Given the description of an element on the screen output the (x, y) to click on. 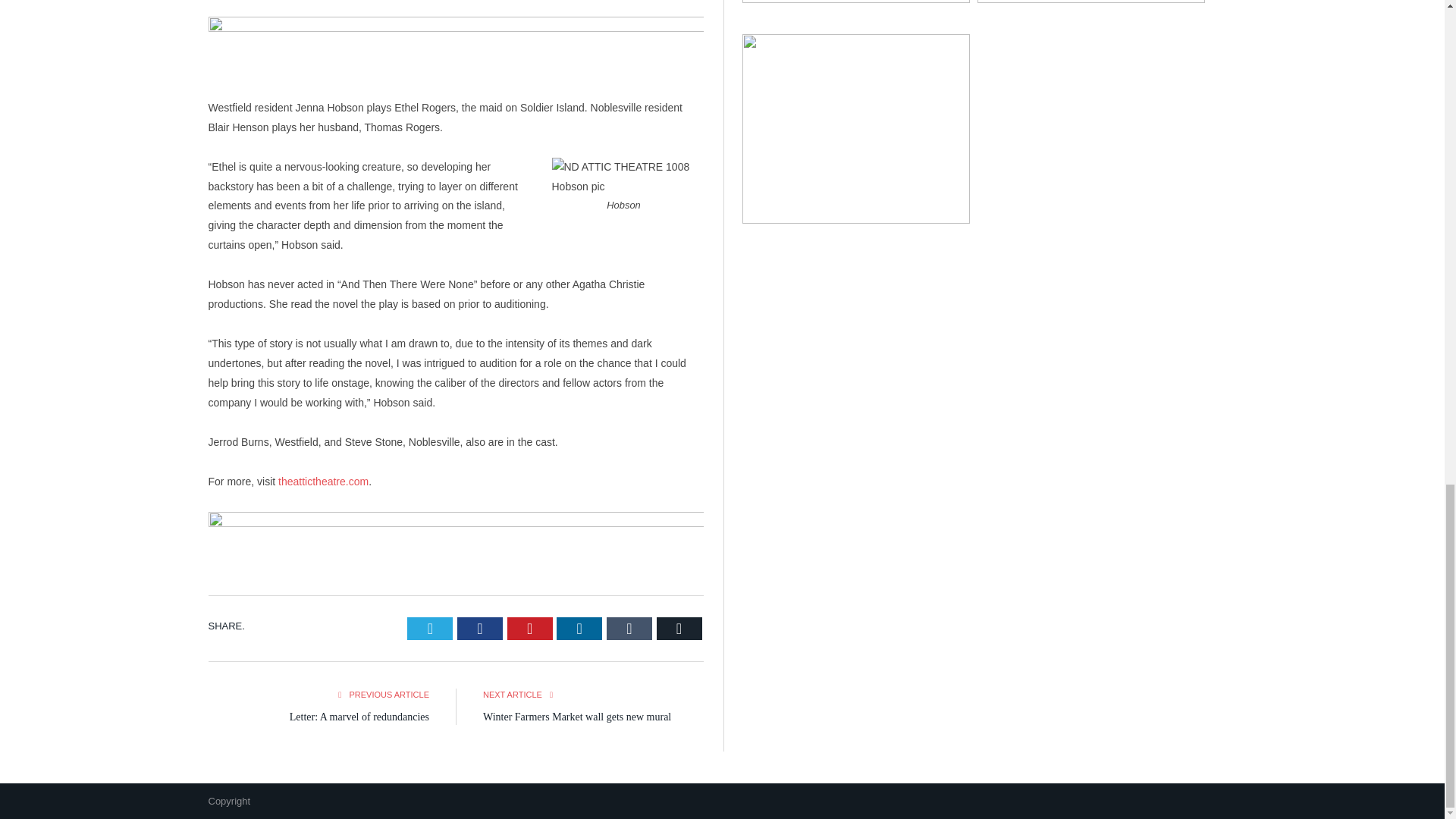
Share on Tumblr (629, 628)
Share on Facebook (479, 628)
Share on LinkedIn (579, 628)
Attic Theatre presents Christie classic 4 (627, 177)
Share via Email (678, 628)
Tweet It (429, 628)
Share on Pinterest (529, 628)
